Given the description of an element on the screen output the (x, y) to click on. 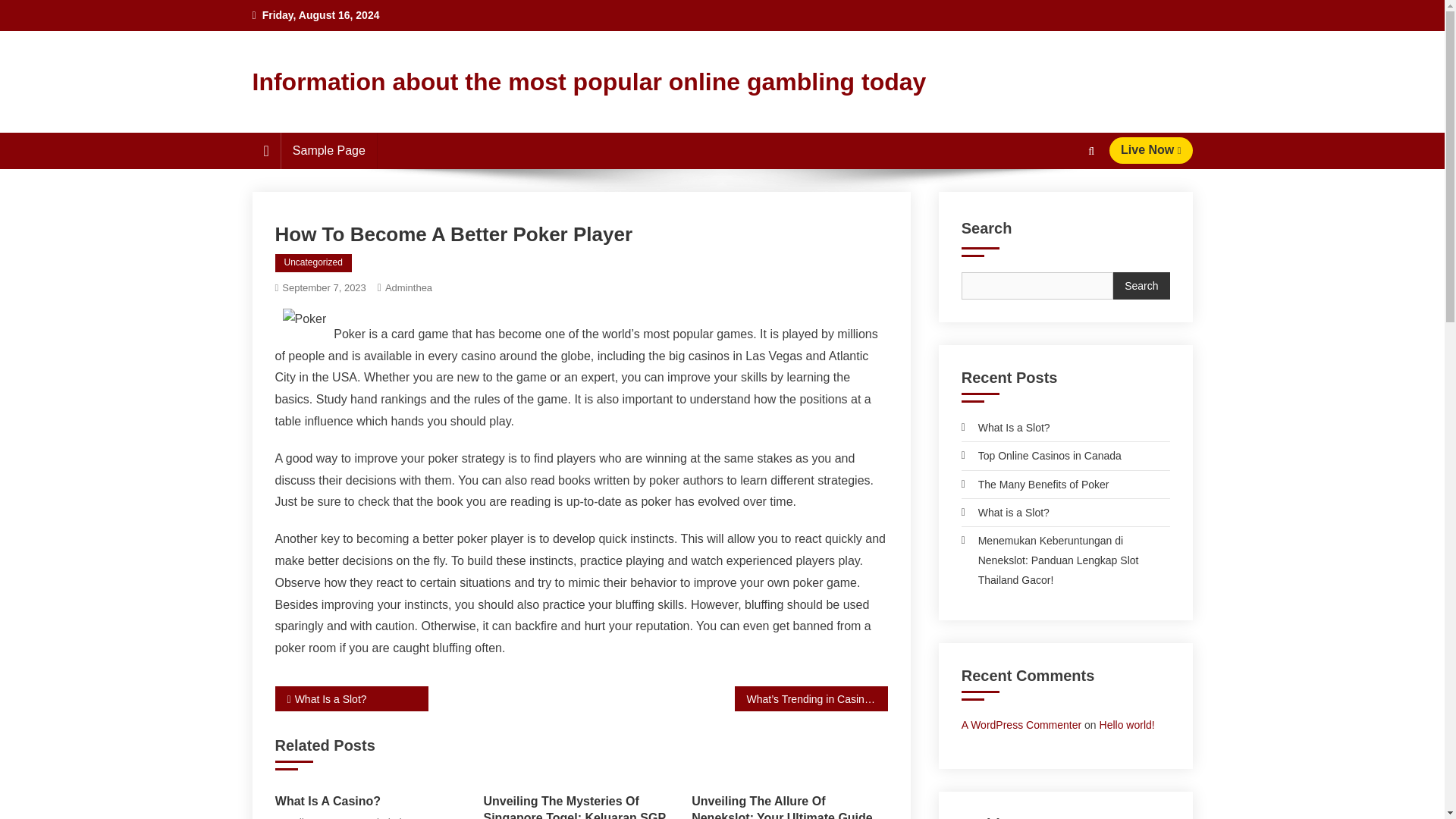
What Is a Slot? (351, 698)
Sample Page (329, 150)
Search (1141, 285)
April 26, 2023 (314, 816)
A WordPress Commenter (1020, 725)
The Many Benefits of Poker (1034, 484)
adminthea (391, 816)
Top Online Casinos in Canada (1040, 455)
